Given the description of an element on the screen output the (x, y) to click on. 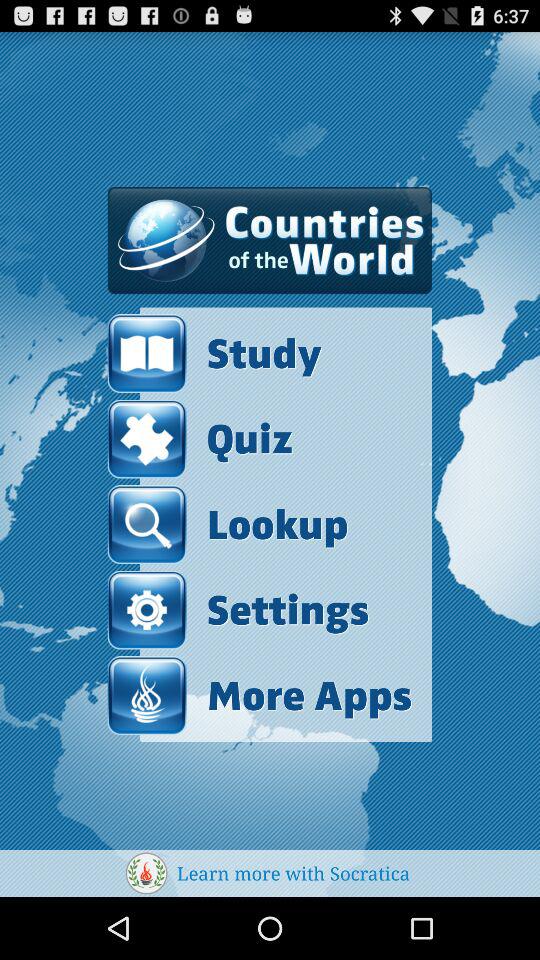
choose the item above lookup icon (199, 438)
